Given the description of an element on the screen output the (x, y) to click on. 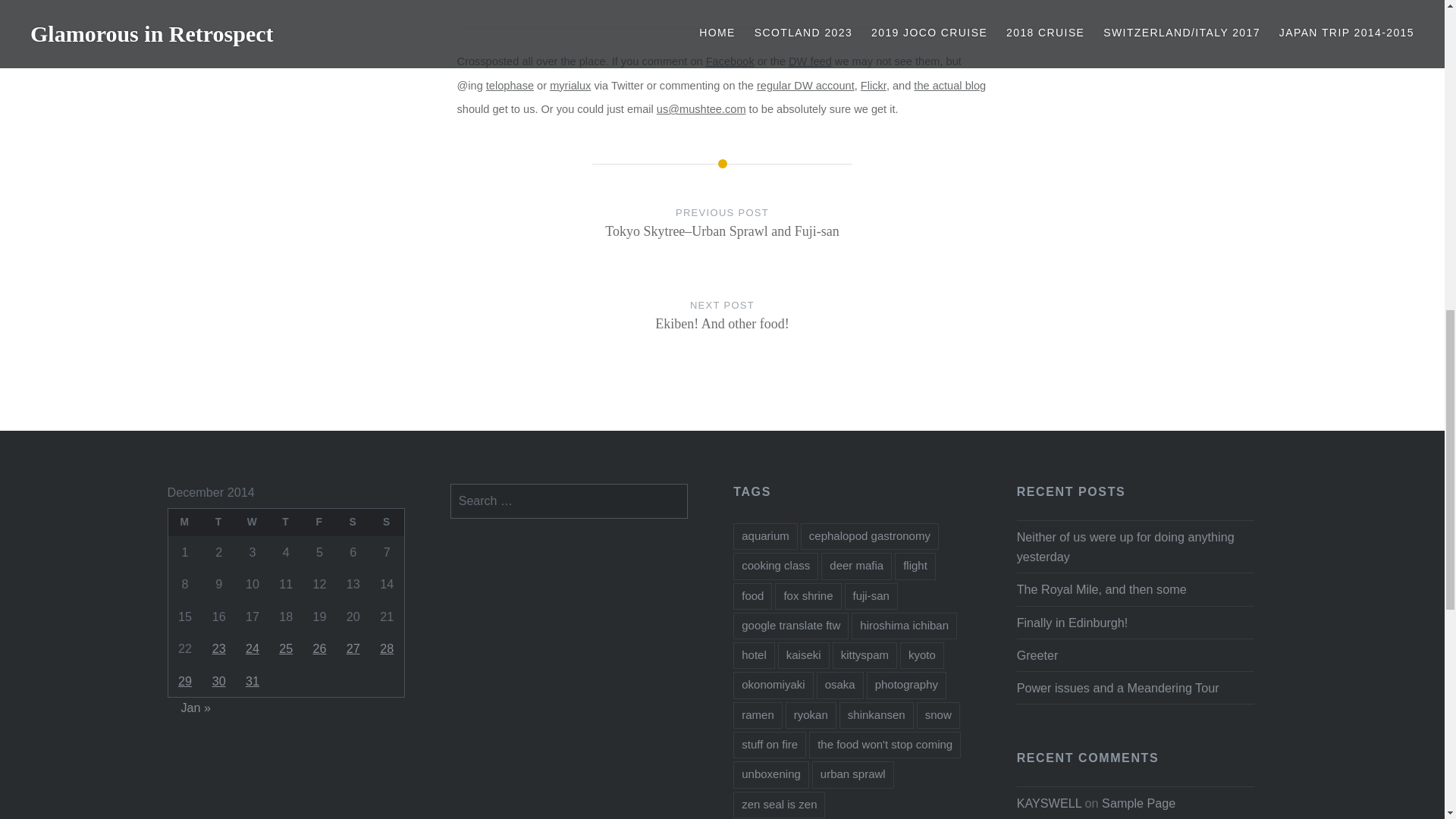
flight (915, 565)
Flickr (873, 85)
Monday (184, 522)
Friday (319, 522)
29 (185, 680)
26 (722, 329)
Tuesday (319, 648)
the actual blog (218, 522)
30 (949, 85)
